Given the description of an element on the screen output the (x, y) to click on. 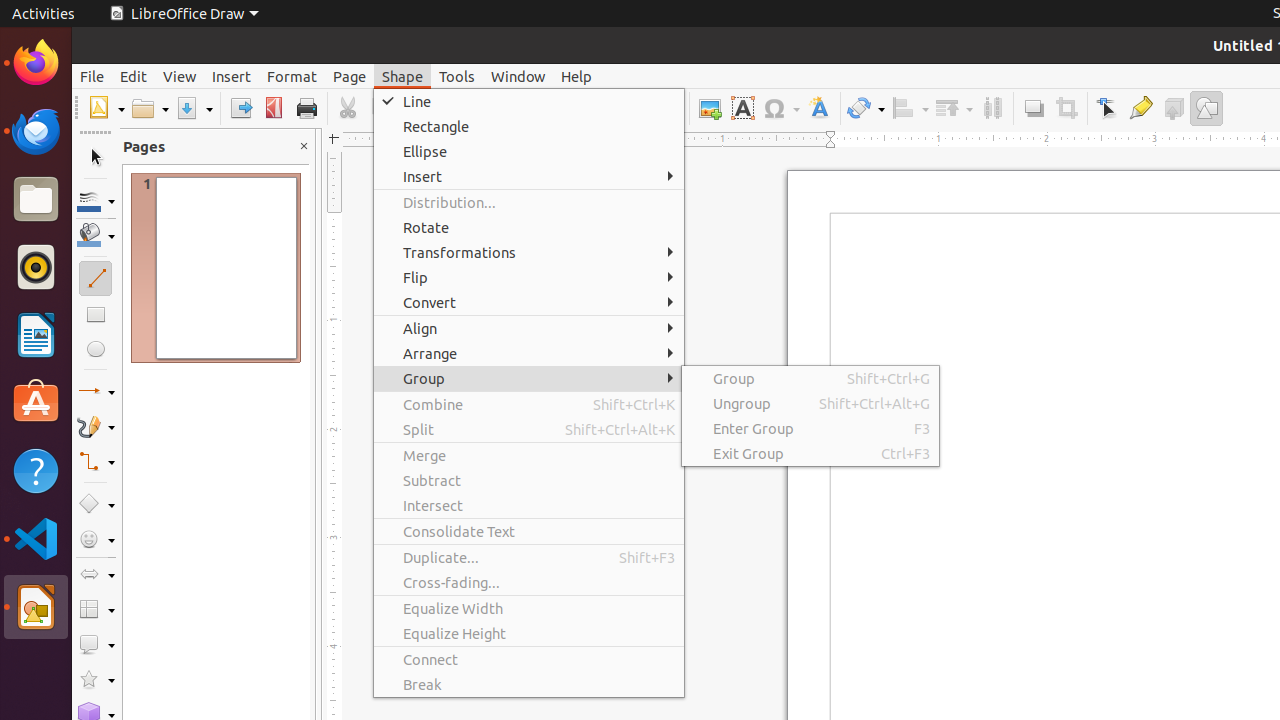
Text Box Element type: push-button (742, 108)
Rotate Element type: menu-item (529, 227)
Tools Element type: menu (457, 76)
New Element type: push-button (106, 108)
Transformations Element type: push-button (866, 108)
